Given the description of an element on the screen output the (x, y) to click on. 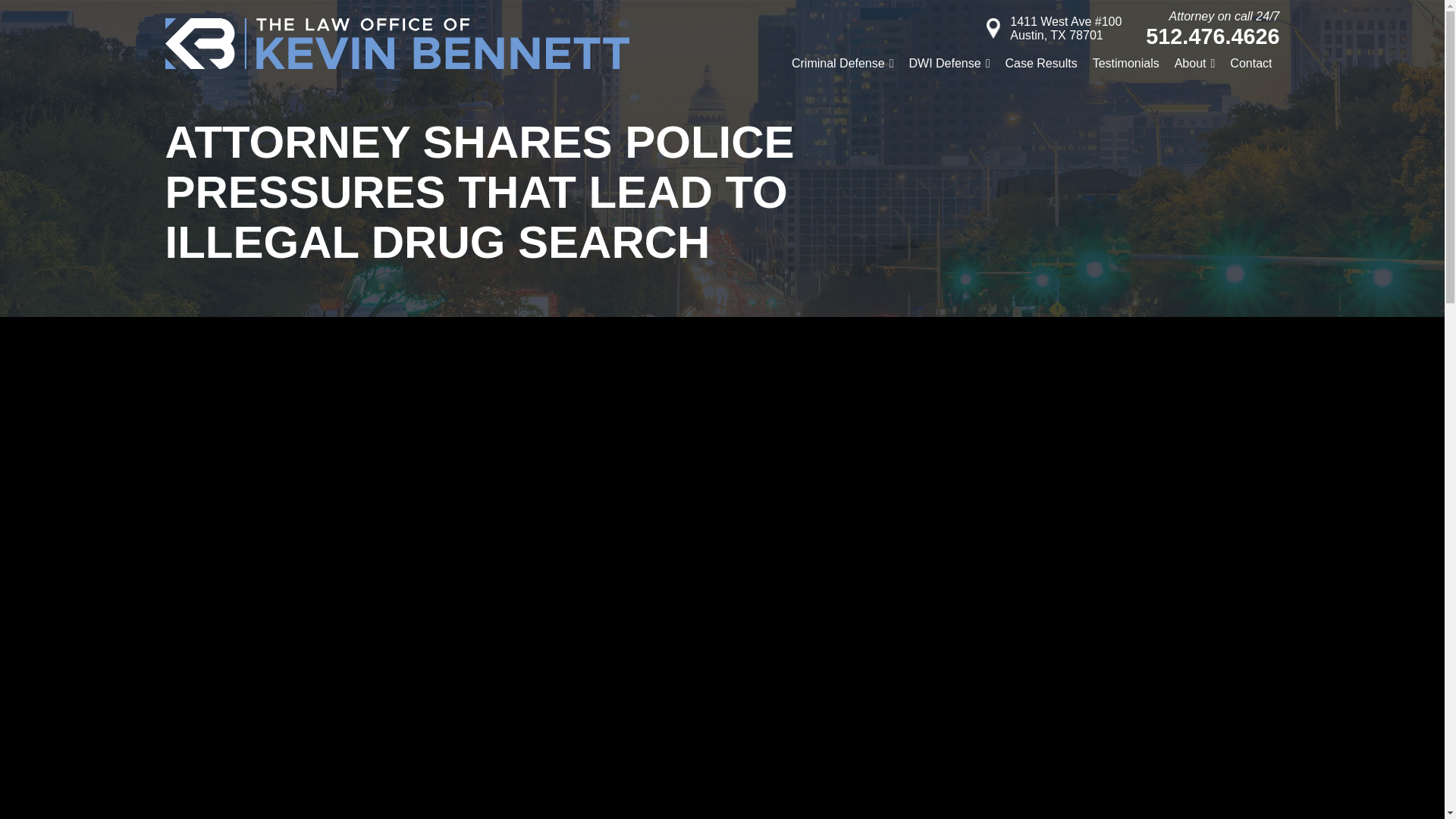
Criminal Defense (842, 64)
DWI Defense (949, 64)
512.476.4626 (1212, 36)
